Given the description of an element on the screen output the (x, y) to click on. 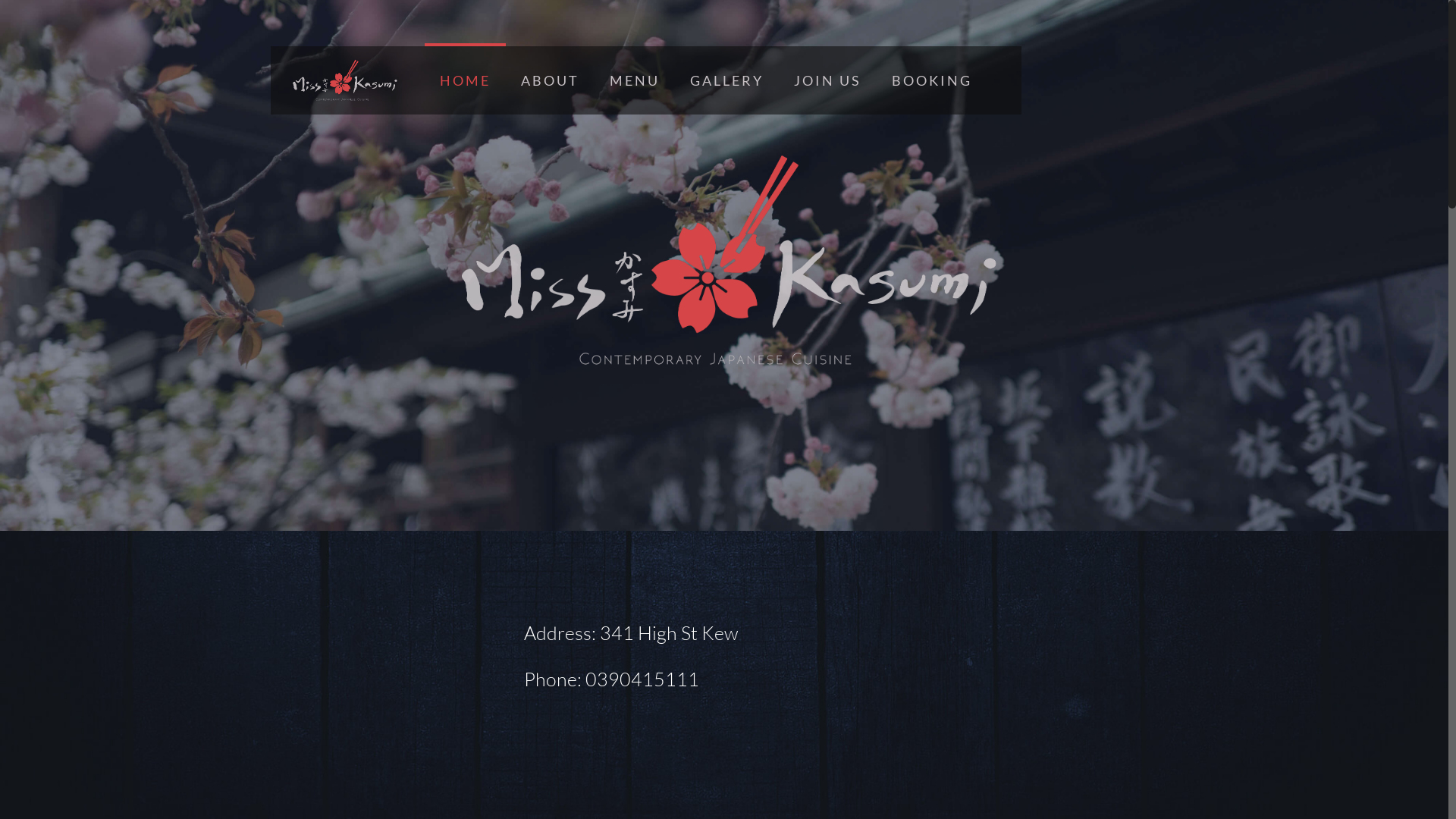
GALLERY Element type: text (726, 80)
MENU Element type: text (634, 80)
BOOKING Element type: text (931, 80)
ABOUT Element type: text (549, 80)
Miss Kasumi Contemporary Japanese Cuisine Element type: hover (343, 80)
JOIN US Element type: text (827, 80)
HOME Element type: text (464, 80)
